Given the description of an element on the screen output the (x, y) to click on. 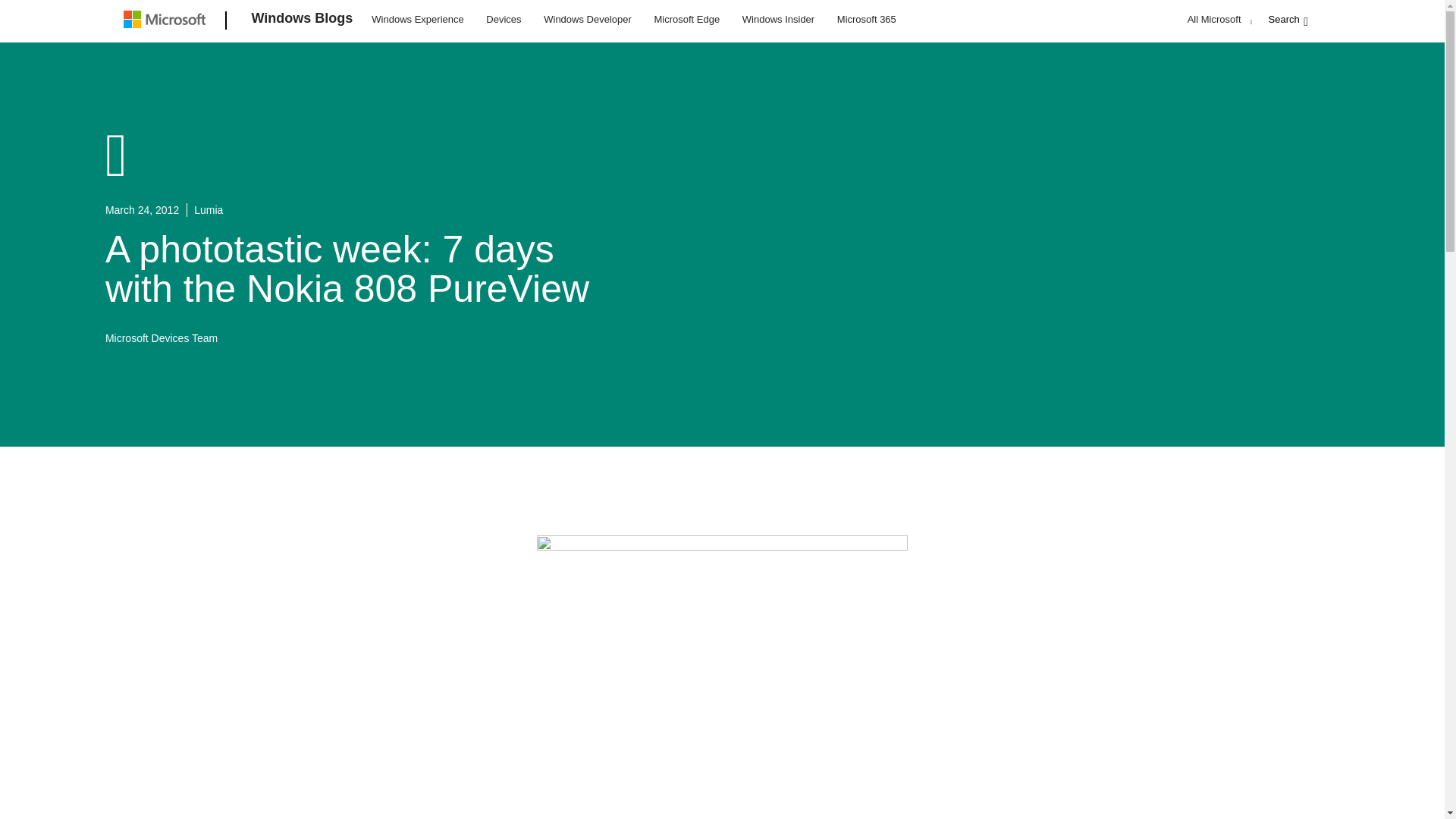
Microsoft Edge (686, 18)
Windows Developer (588, 18)
Windows Insider (778, 18)
Microsoft 365 (865, 18)
All Microsoft (1217, 18)
Windows Blogs (302, 20)
Microsoft (167, 20)
Windows Experience (417, 18)
Devices (503, 18)
